Given the description of an element on the screen output the (x, y) to click on. 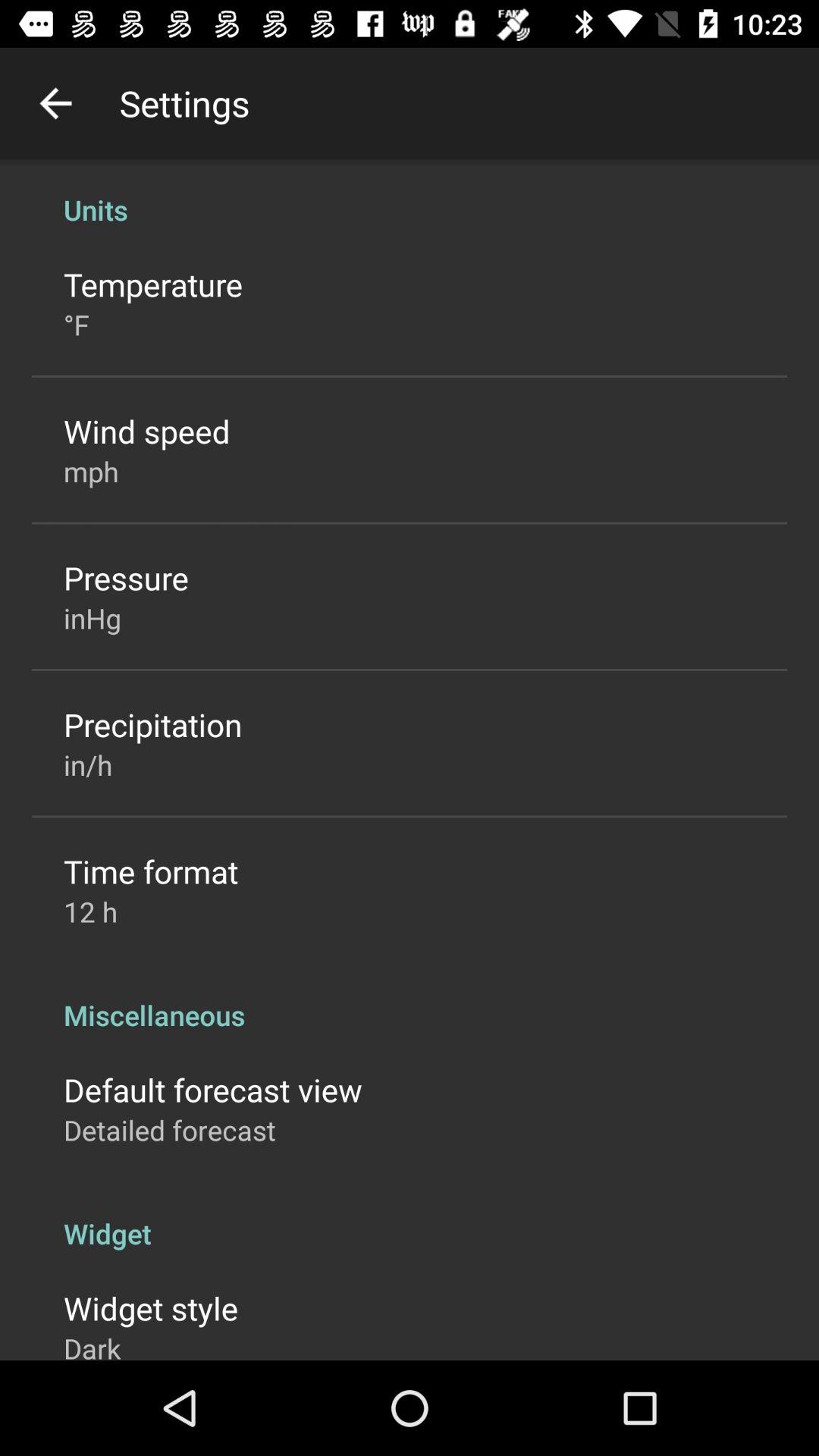
turn on item below temperature icon (76, 324)
